Given the description of an element on the screen output the (x, y) to click on. 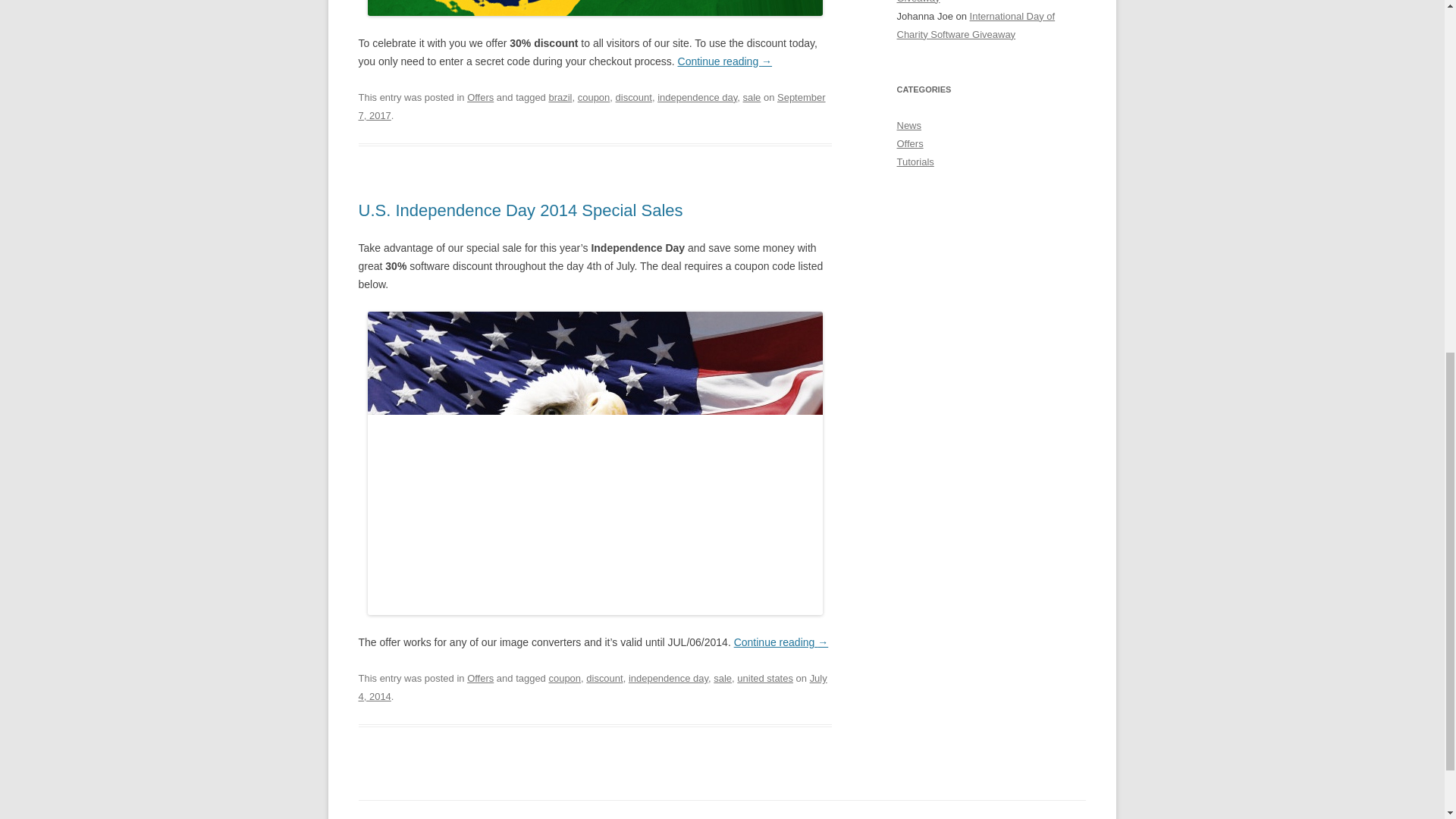
July 4, 2014 (592, 686)
brazil (560, 97)
coupon (594, 97)
coupon (564, 677)
sale (751, 97)
Offers (480, 677)
September 7, 2017 (591, 106)
united states (764, 677)
discount (633, 97)
discount (604, 677)
independence day (697, 97)
12:21 (592, 686)
independence day (667, 677)
U.S. Independence Day 2014 Special Sales (520, 210)
International Day of Charity Software Giveaway (976, 2)
